Given the description of an element on the screen output the (x, y) to click on. 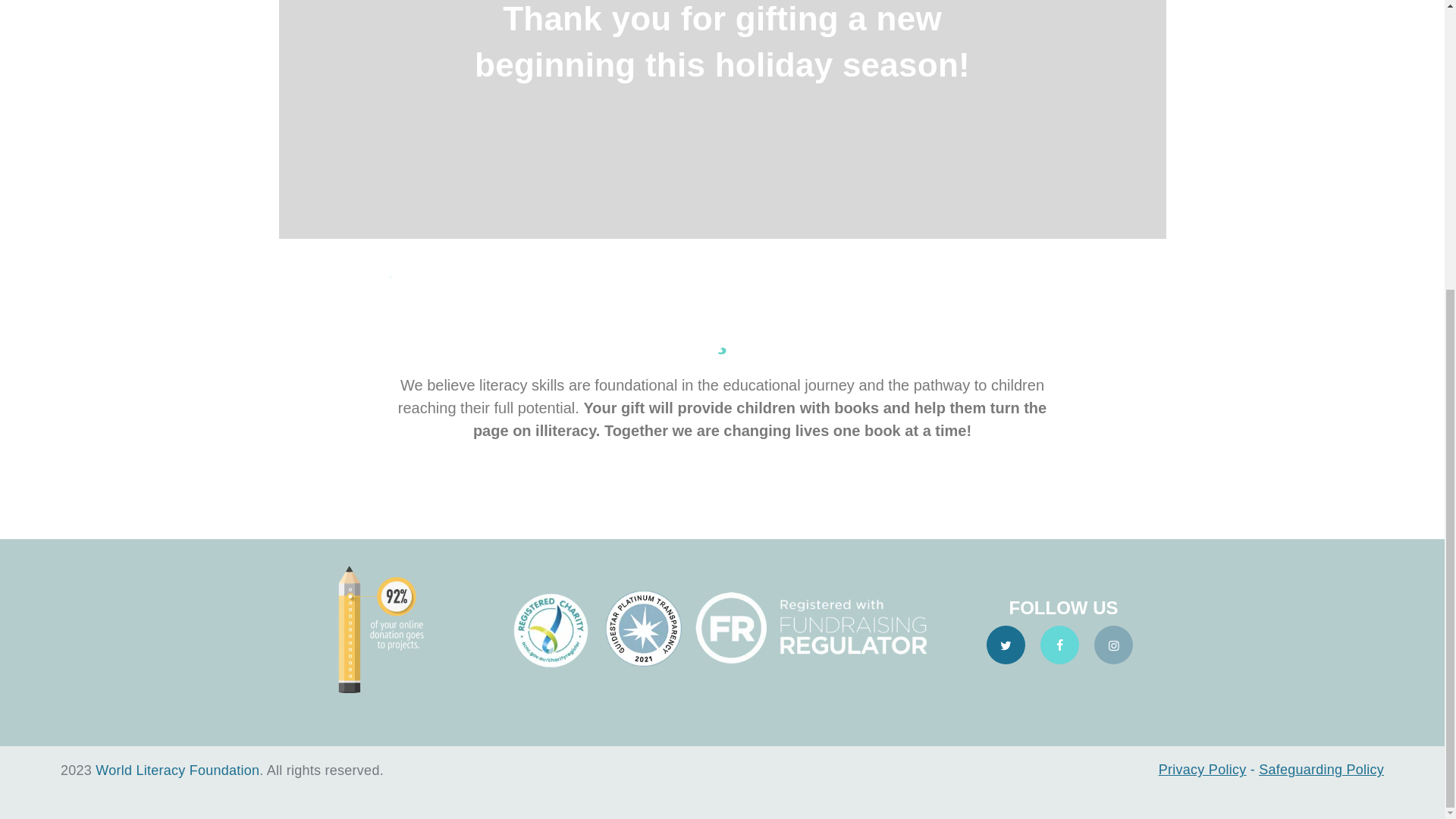
LOGO FOOTER (722, 629)
